Given the description of an element on the screen output the (x, y) to click on. 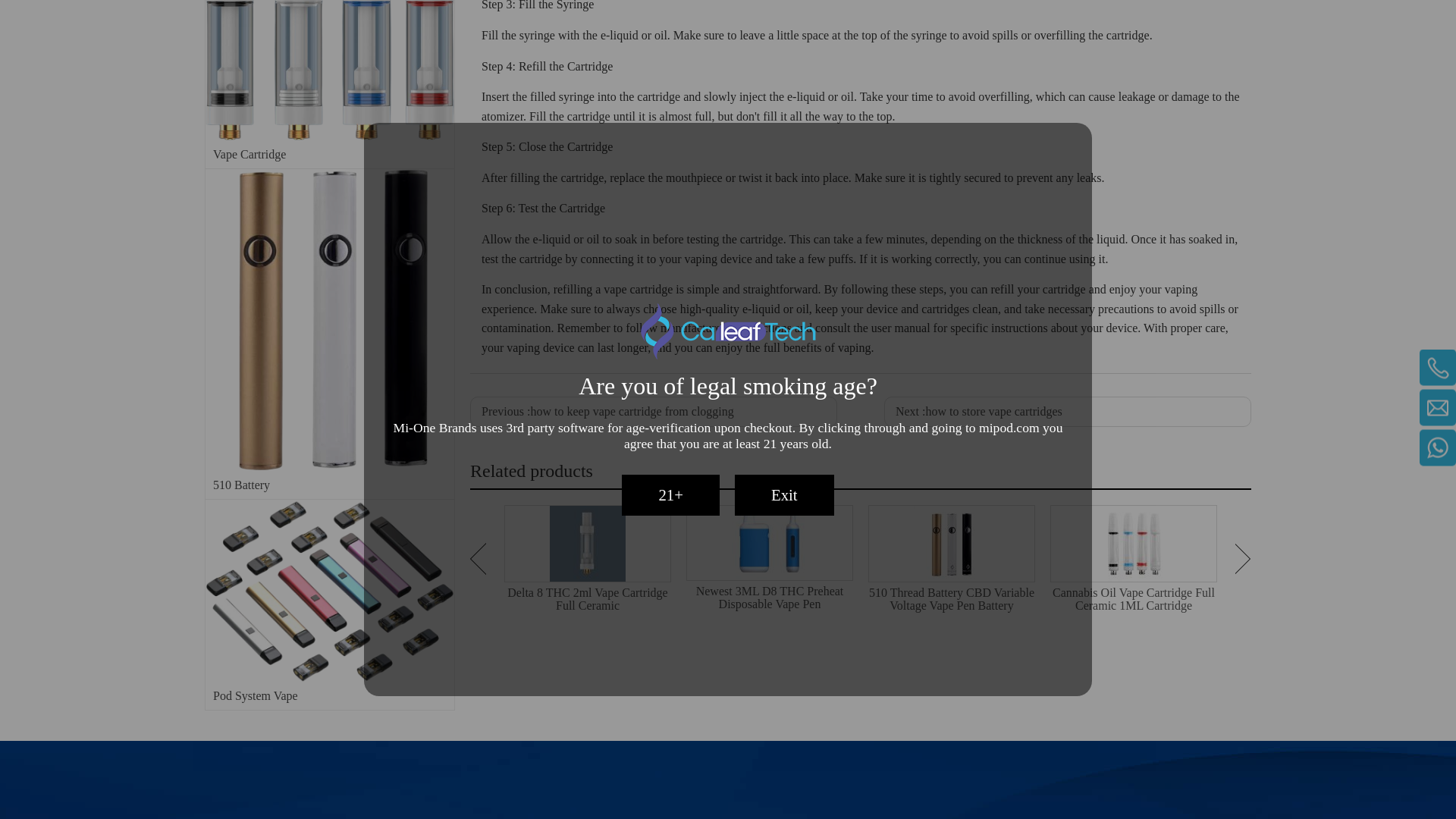
Vape Cartridge (329, 70)
